Given the description of an element on the screen output the (x, y) to click on. 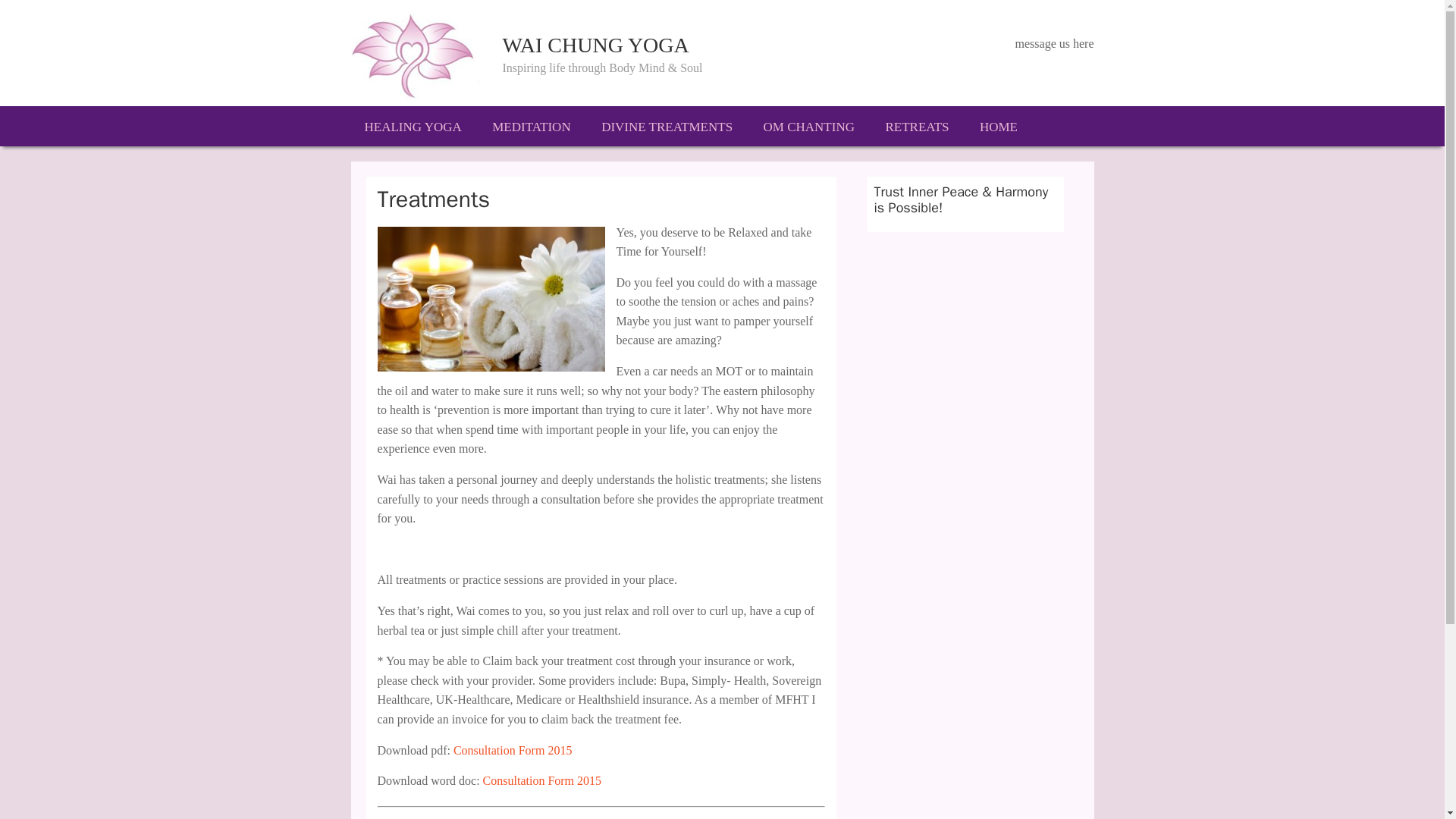
WAI CHUNG YOGA (595, 44)
OM CHANTING (808, 126)
Consultation Form 2015 (512, 749)
MEDITATION (531, 126)
DIVINE TREATMENTS (666, 126)
Consultation Form 2015 (542, 780)
HOME (998, 126)
message us here (1054, 42)
RETREATS (916, 126)
HEALING YOGA (412, 126)
